Given the description of an element on the screen output the (x, y) to click on. 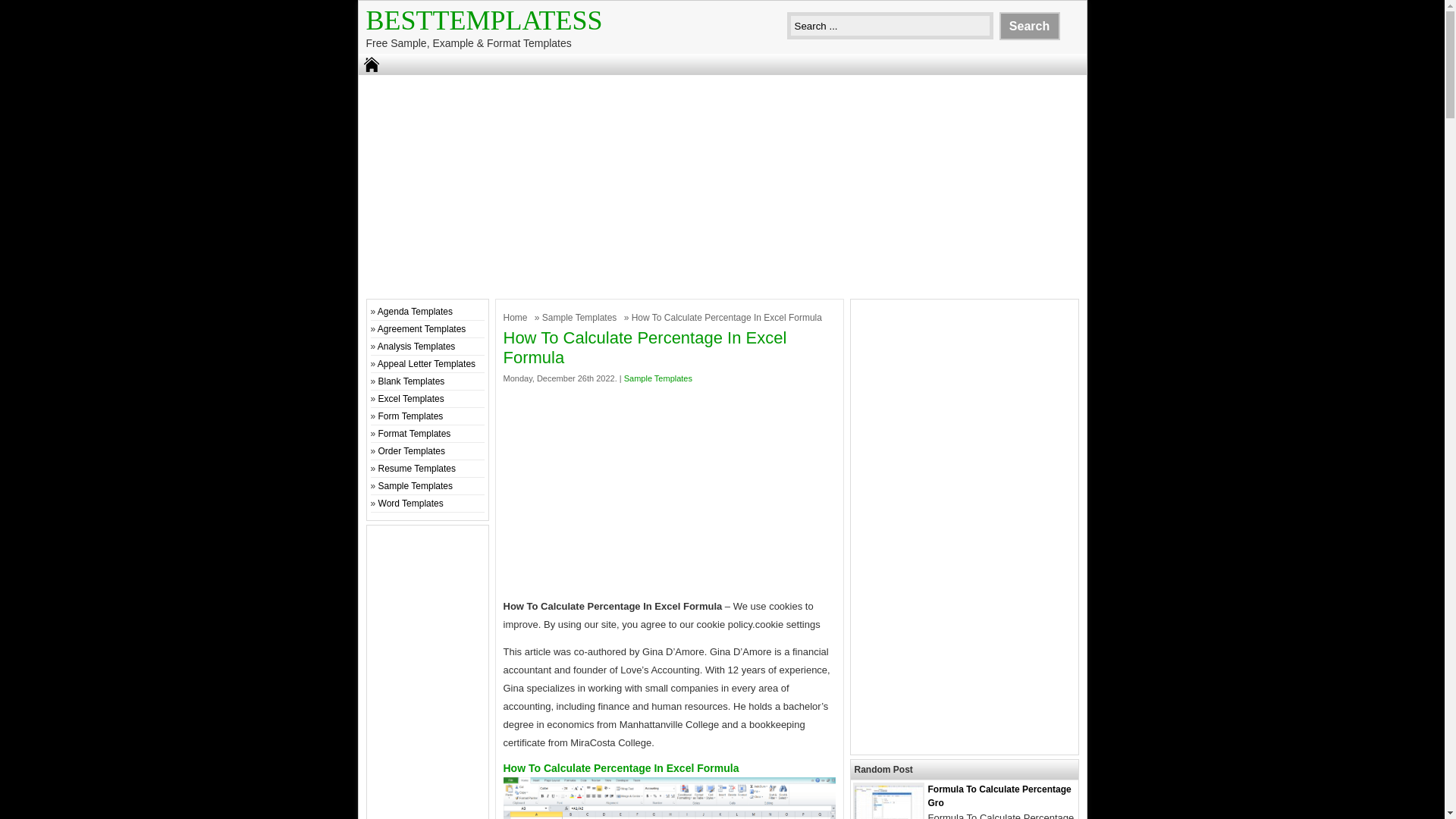
Word Templates (411, 502)
How To Calculate Percentage In Excel Formula (669, 798)
Sample Templates (581, 317)
Agenda Templates (414, 311)
Format Templates (414, 433)
BESTTEMPLATESS (483, 20)
Search (1028, 26)
Sample Templates (658, 378)
Resume Templates (417, 468)
Sample Templates (415, 485)
Search ...  (889, 25)
Formula To Calculate Percentage Gro (999, 795)
Analysis Templates (416, 346)
Form Templates (411, 416)
Sample Templates (581, 317)
